Given the description of an element on the screen output the (x, y) to click on. 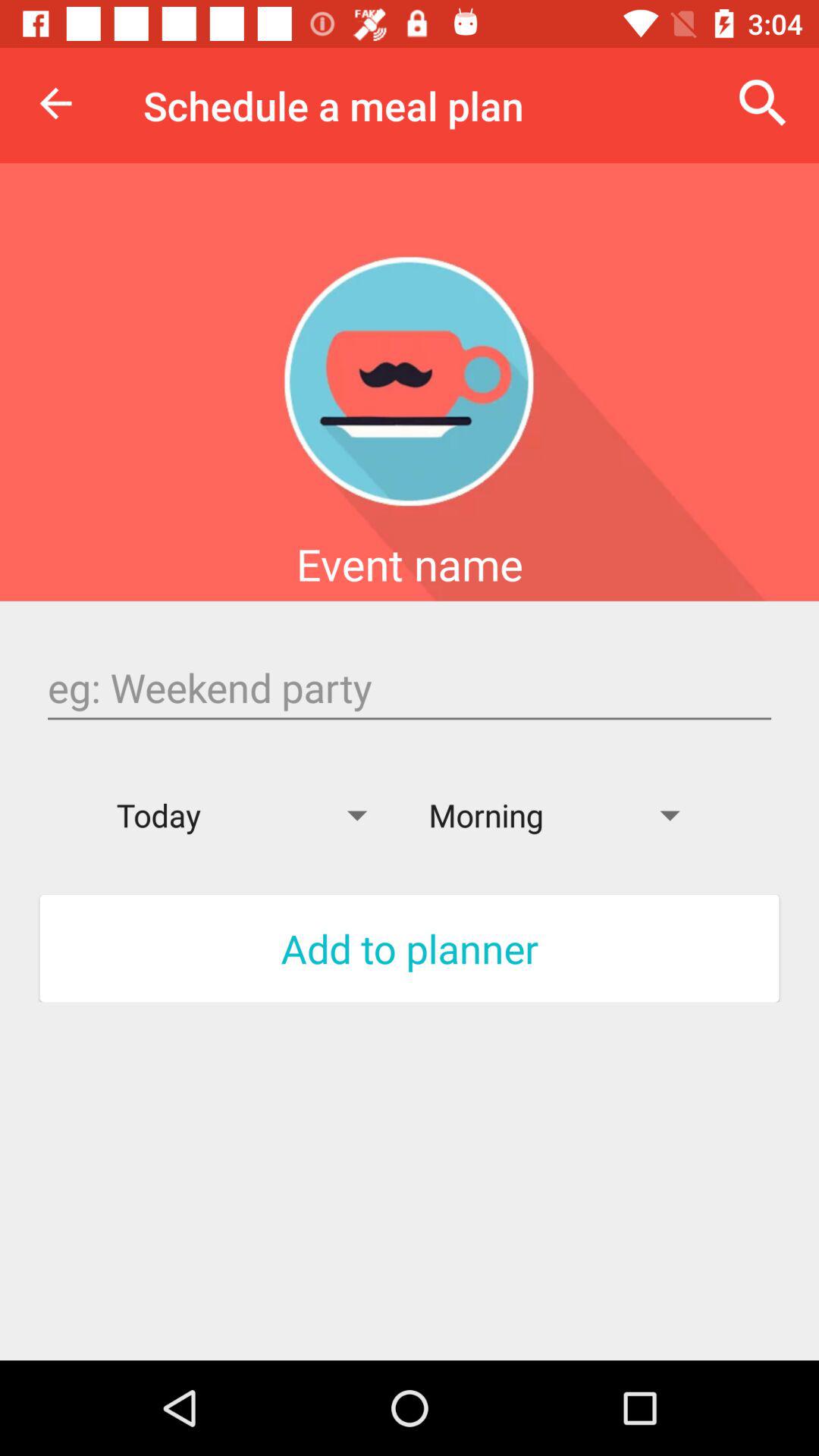
enter event name (409, 687)
